Given the description of an element on the screen output the (x, y) to click on. 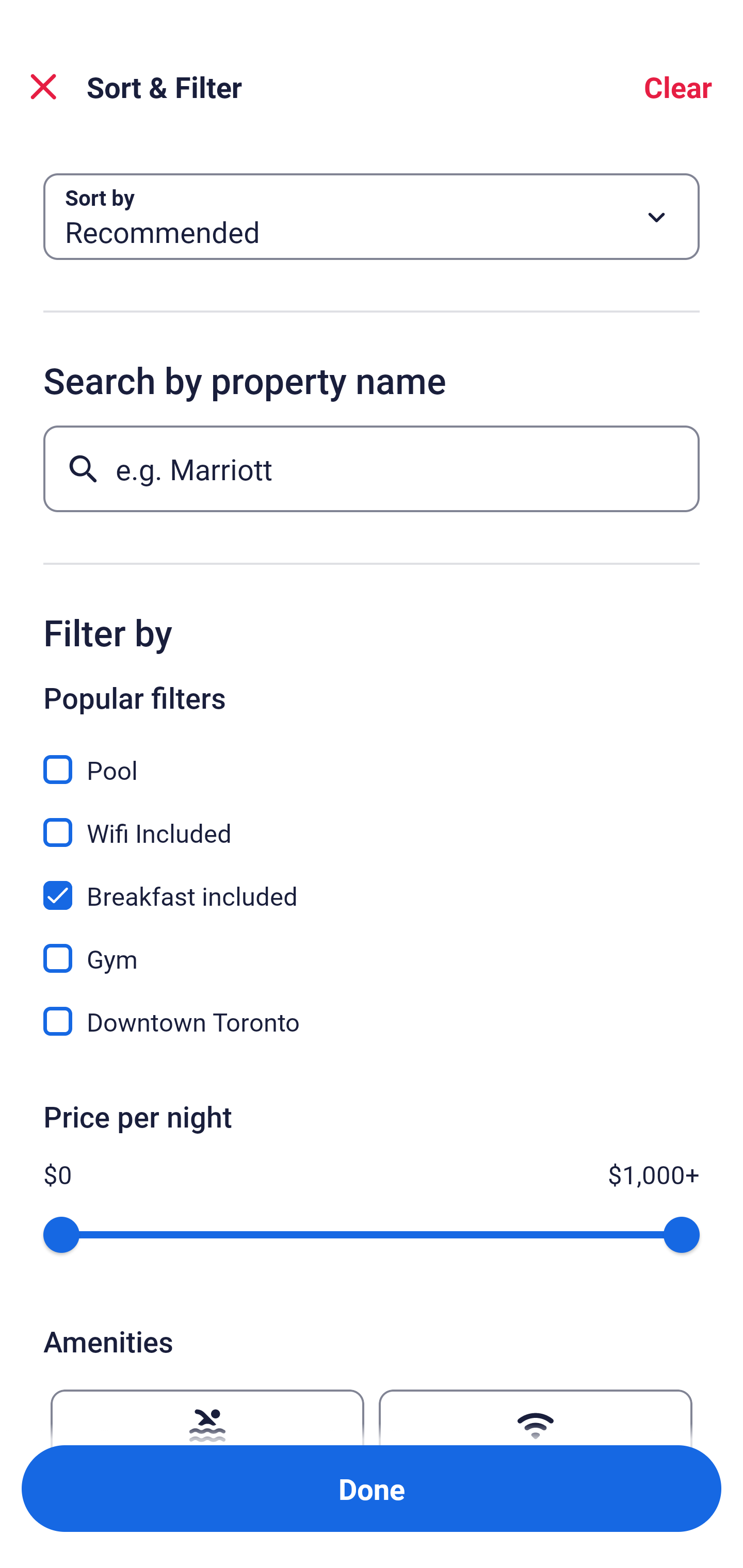
Close Sort and Filter (43, 86)
Clear (677, 86)
Sort by Button Recommended (371, 217)
e.g. Marriott Button (371, 468)
Pool, Pool (371, 757)
Wifi Included, Wifi Included (371, 821)
Breakfast included, Breakfast included (371, 883)
Gym, Gym (371, 946)
Downtown Toronto, Downtown Toronto (371, 1021)
Apply and close Sort and Filter Done (371, 1488)
